Given the description of an element on the screen output the (x, y) to click on. 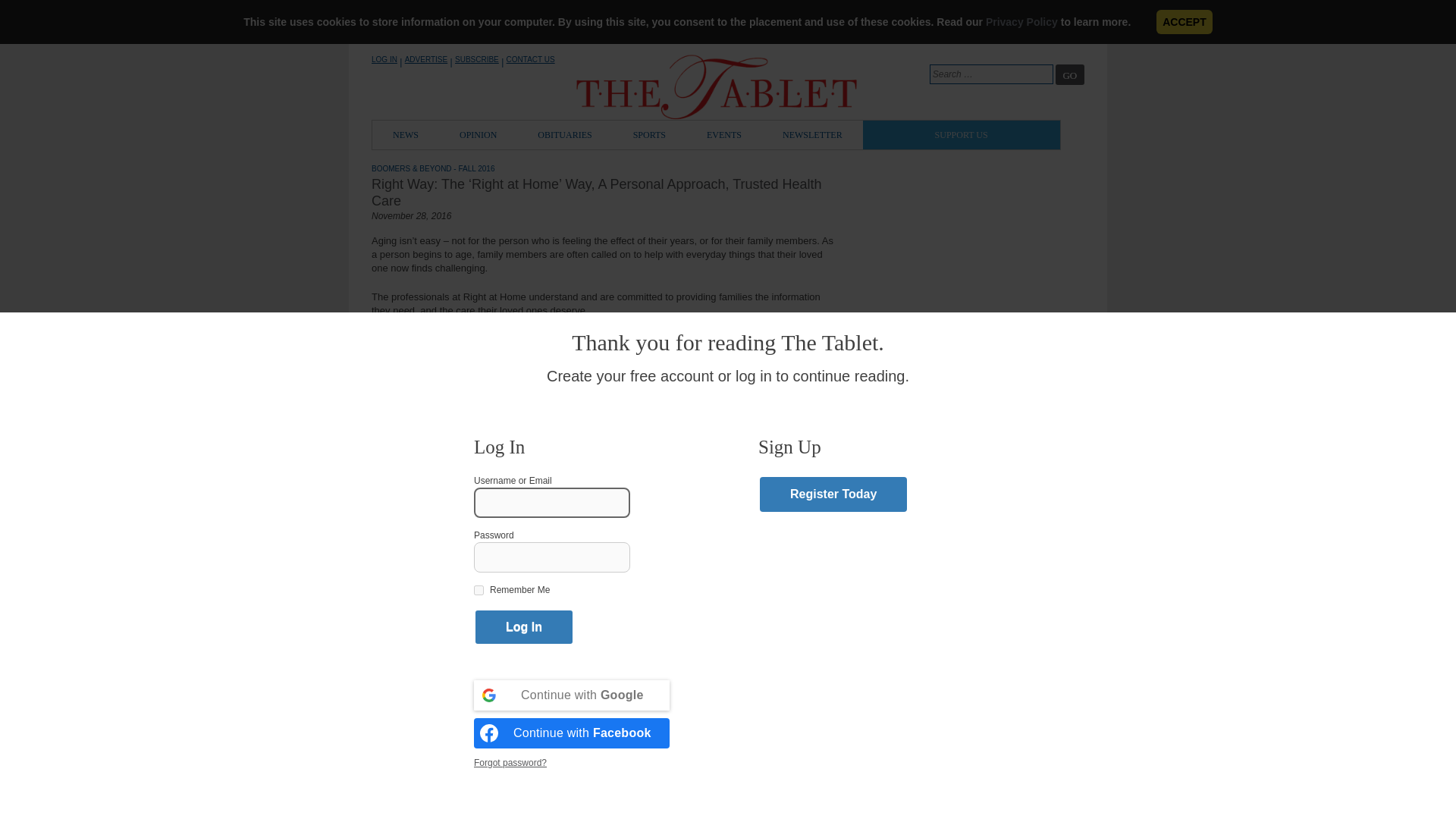
LOG IN (384, 59)
GO (1069, 74)
EVENTS (723, 134)
Search for: (991, 74)
Log In (524, 626)
NEWSLETTER (812, 134)
OBITUARIES (563, 134)
SUBSCRIBE (476, 59)
Privacy Policy (1021, 21)
forever (478, 590)
ACCEPT (1184, 21)
GO (1069, 74)
NEWS (405, 134)
ADVERTISE (426, 59)
SPORTS (648, 134)
